Given the description of an element on the screen output the (x, y) to click on. 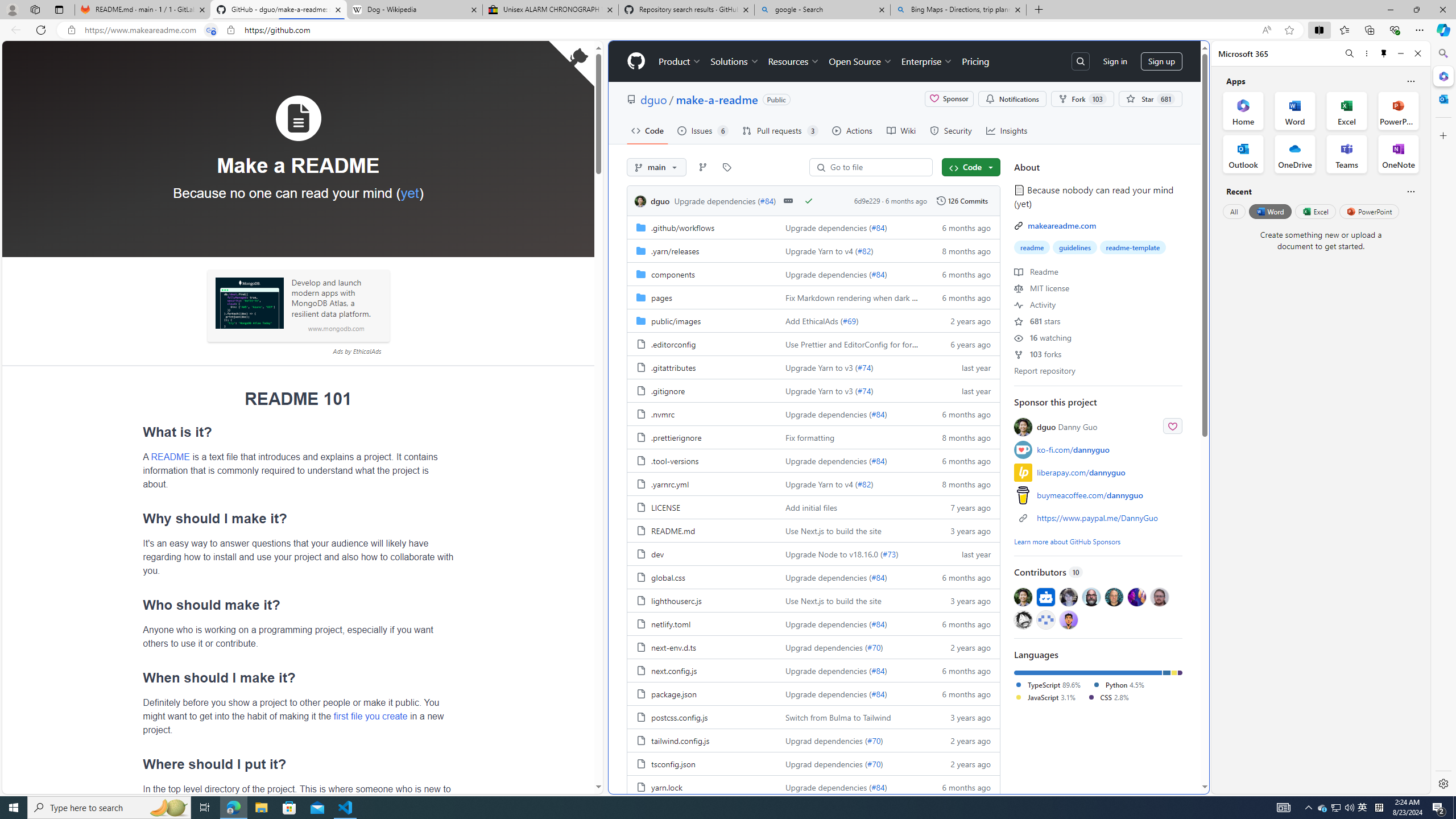
Excel Office App (1346, 110)
AutomationID: folder-row-5 (813, 343)
success (808, 200)
You must be signed in to star a repository (1150, 98)
@aranciokov (1159, 596)
AutomationID: folder-row-14 (813, 553)
Issues6 (702, 130)
AutomationID: folder-row-12 (813, 506)
@dependabot[bot] (1045, 596)
AutomationID: folder-row-1 (813, 250)
